Given the description of an element on the screen output the (x, y) to click on. 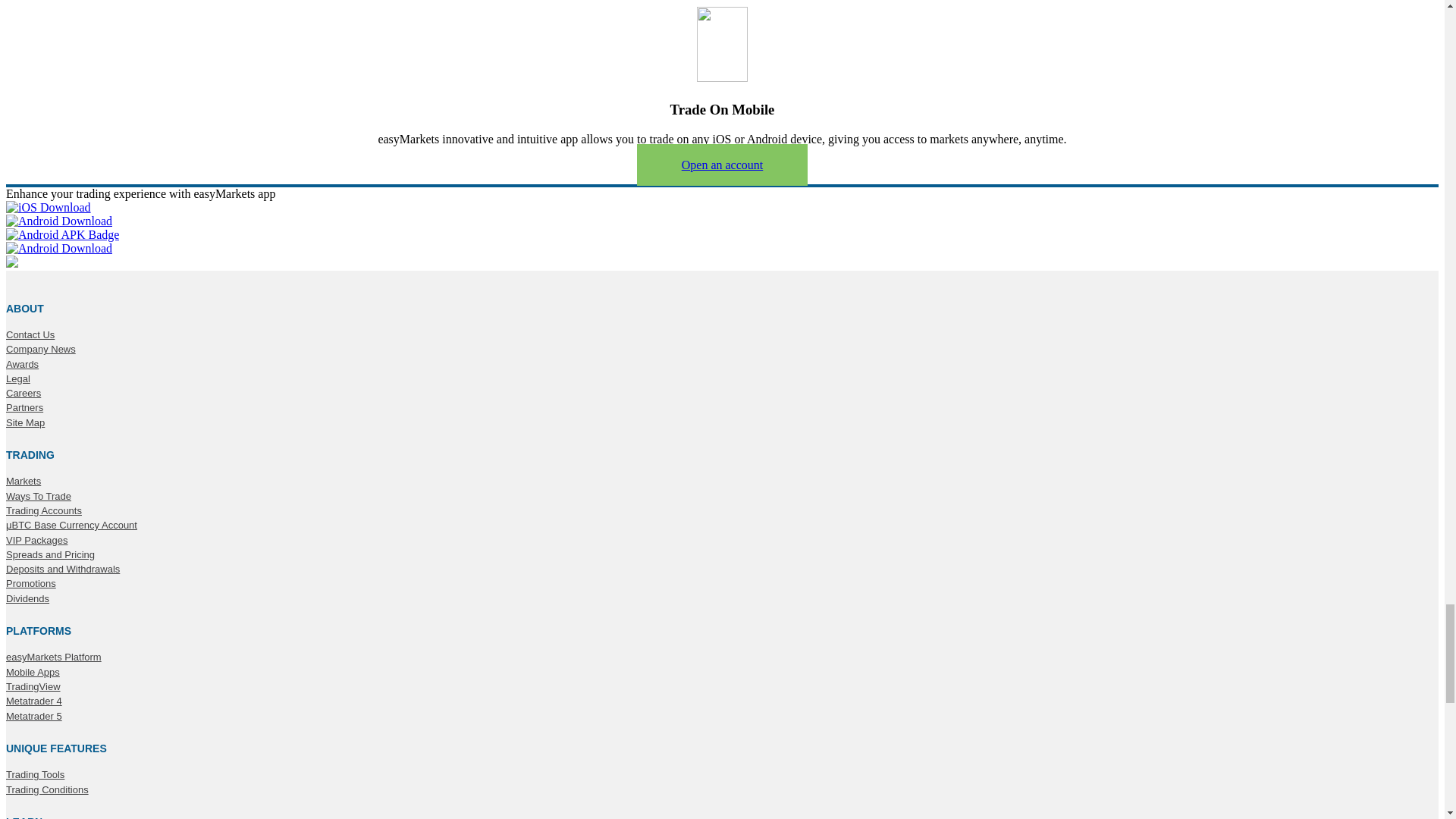
Deposits and Withdrawals (62, 569)
Partnerships (24, 408)
Site Map (25, 422)
Company News (40, 349)
Dividends (27, 598)
Contact Us (30, 335)
Awards (22, 364)
easyMarkets Trading App (32, 672)
Careers (22, 393)
Markets (22, 481)
Trade VIP (35, 540)
TradingView (33, 686)
Promotions (30, 583)
Forex Accounts (43, 510)
Legal information (17, 378)
